Given the description of an element on the screen output the (x, y) to click on. 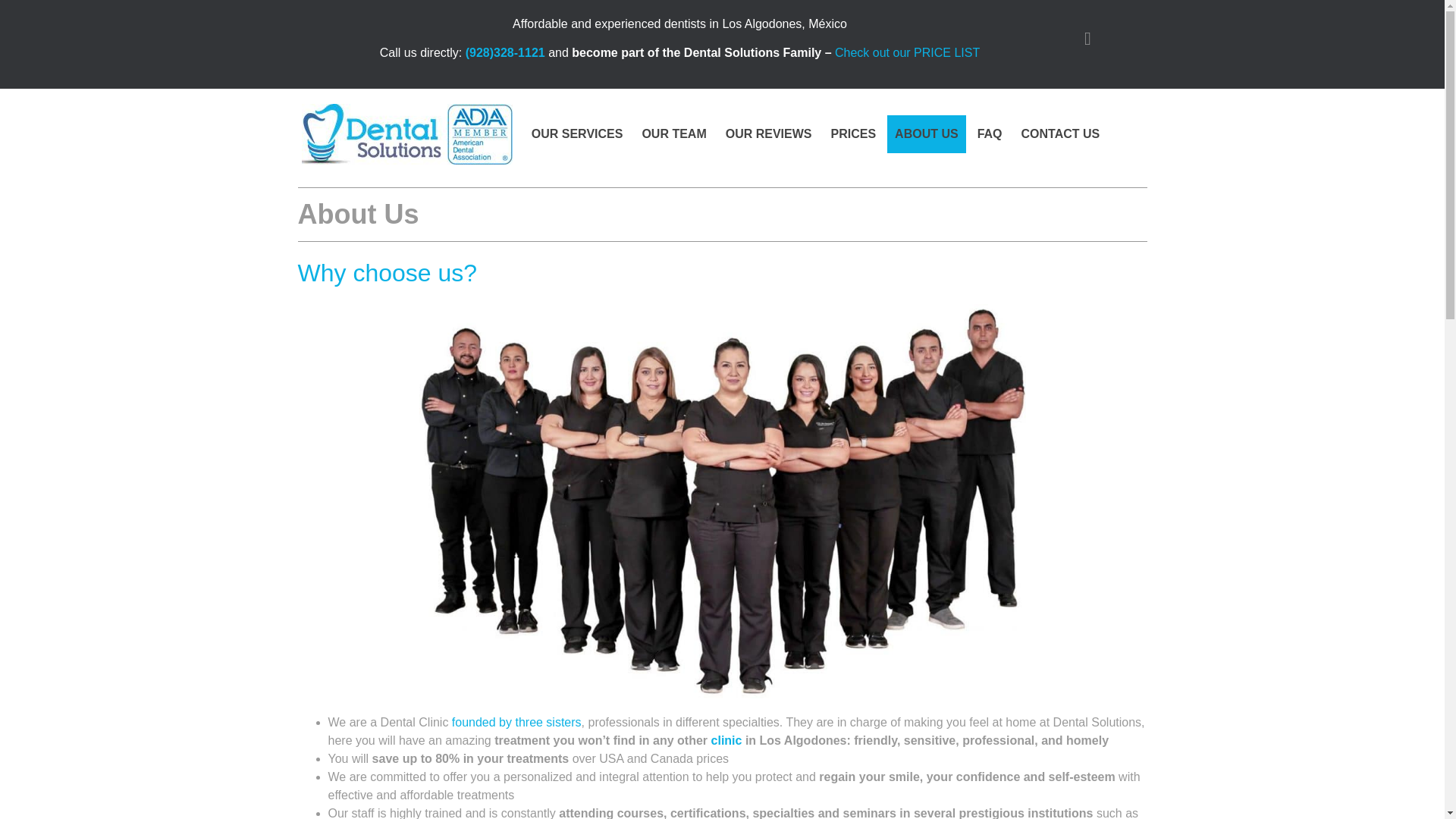
clinic (726, 739)
OUR SERVICES (577, 134)
CONTACT US (1060, 134)
Check out our PRICE LIST (906, 51)
ABOUT US (926, 134)
OUR REVIEWS (768, 134)
PRICES (853, 134)
founded by three sisters (515, 721)
OUR TEAM (673, 134)
FAQ (989, 134)
